Given the description of an element on the screen output the (x, y) to click on. 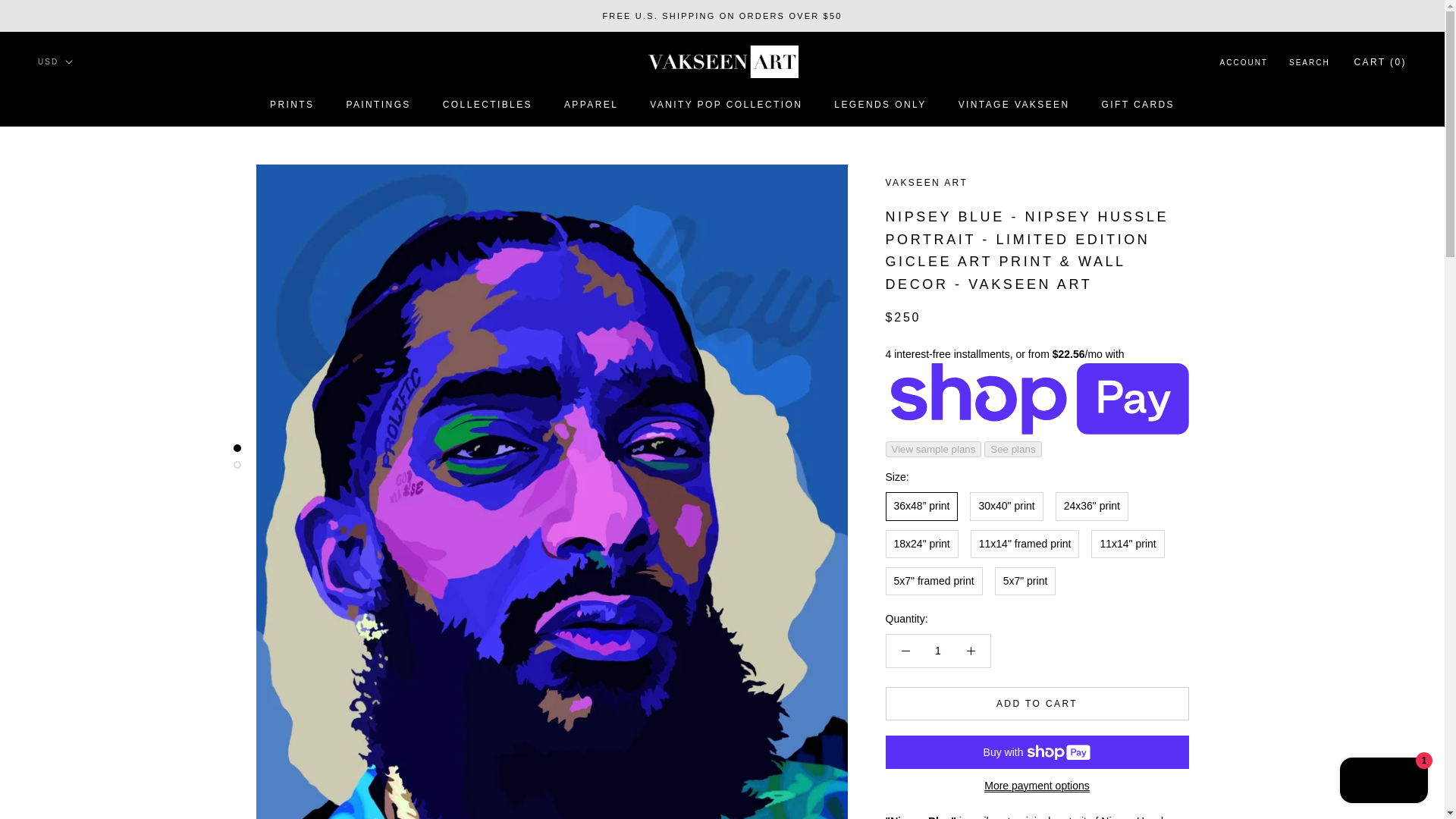
LEGENDS ONLY (590, 104)
1 (291, 104)
Shopify online store chat (880, 104)
VANITY POP COLLECTION (938, 650)
Currency selector (1383, 781)
